Given the description of an element on the screen output the (x, y) to click on. 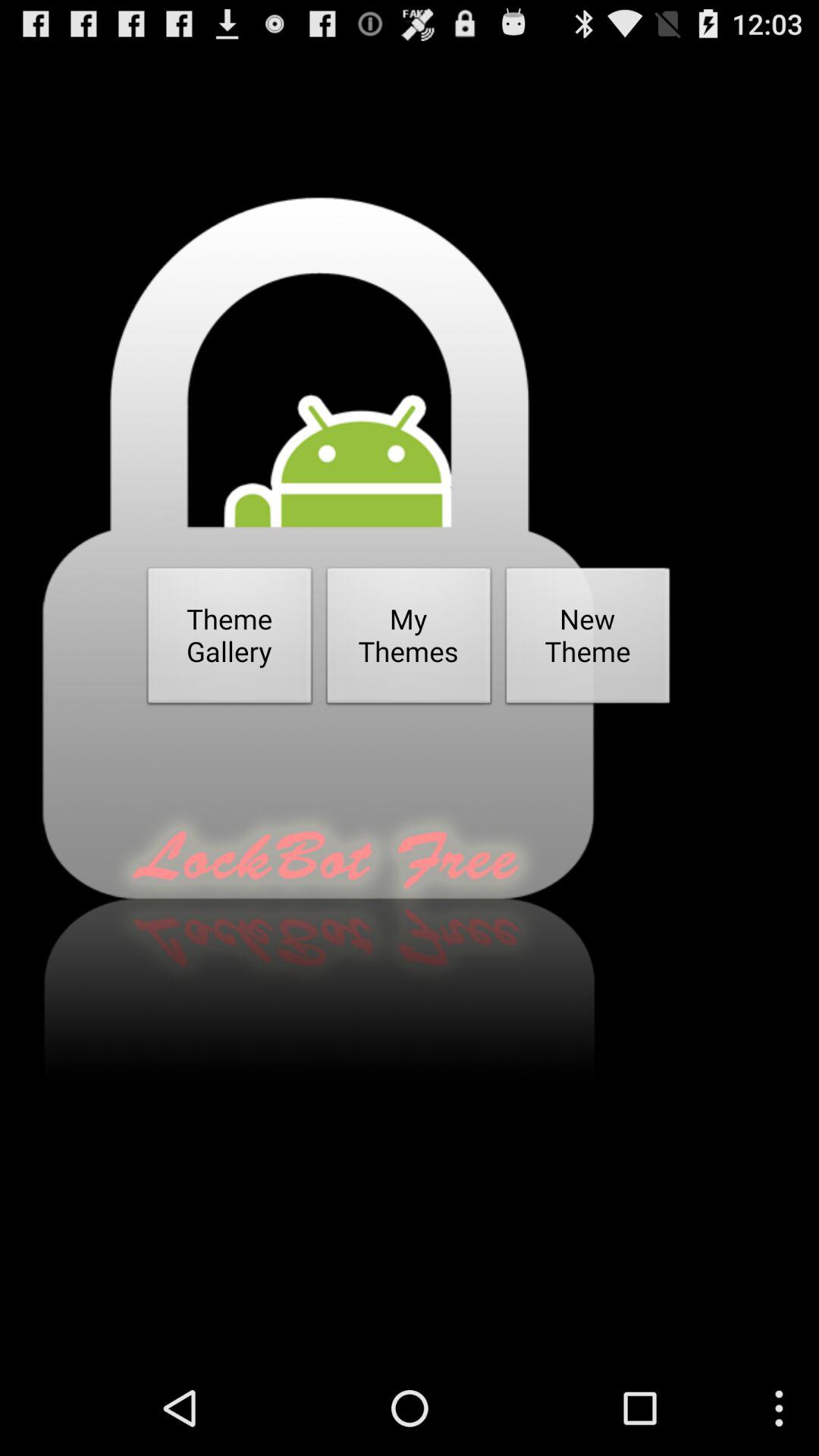
turn off the icon on the left (229, 639)
